Given the description of an element on the screen output the (x, y) to click on. 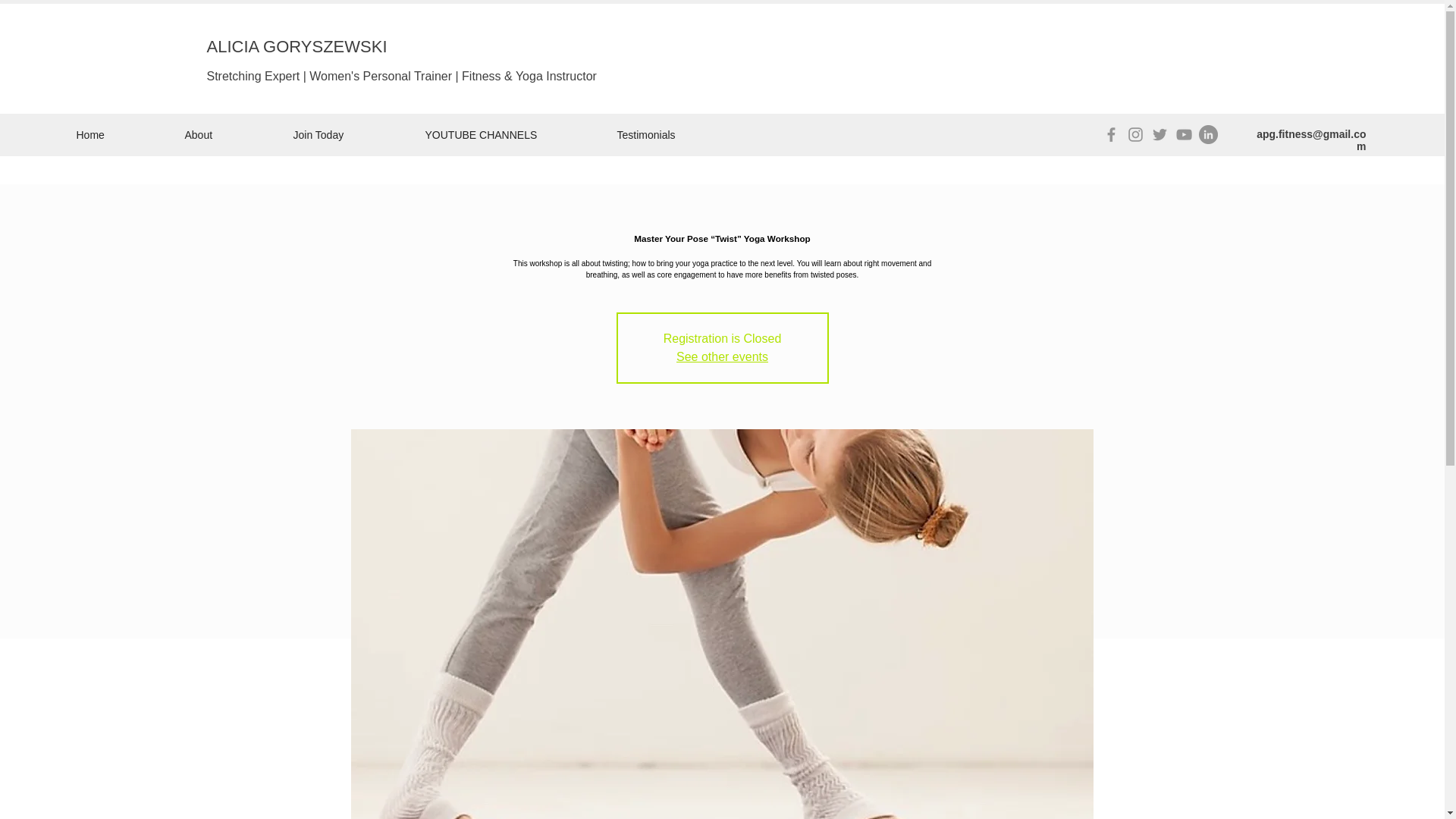
YOUTUBE CHANNELS (509, 134)
Home (119, 134)
See other events (722, 356)
About (227, 134)
Testimonials (675, 134)
